Given the description of an element on the screen output the (x, y) to click on. 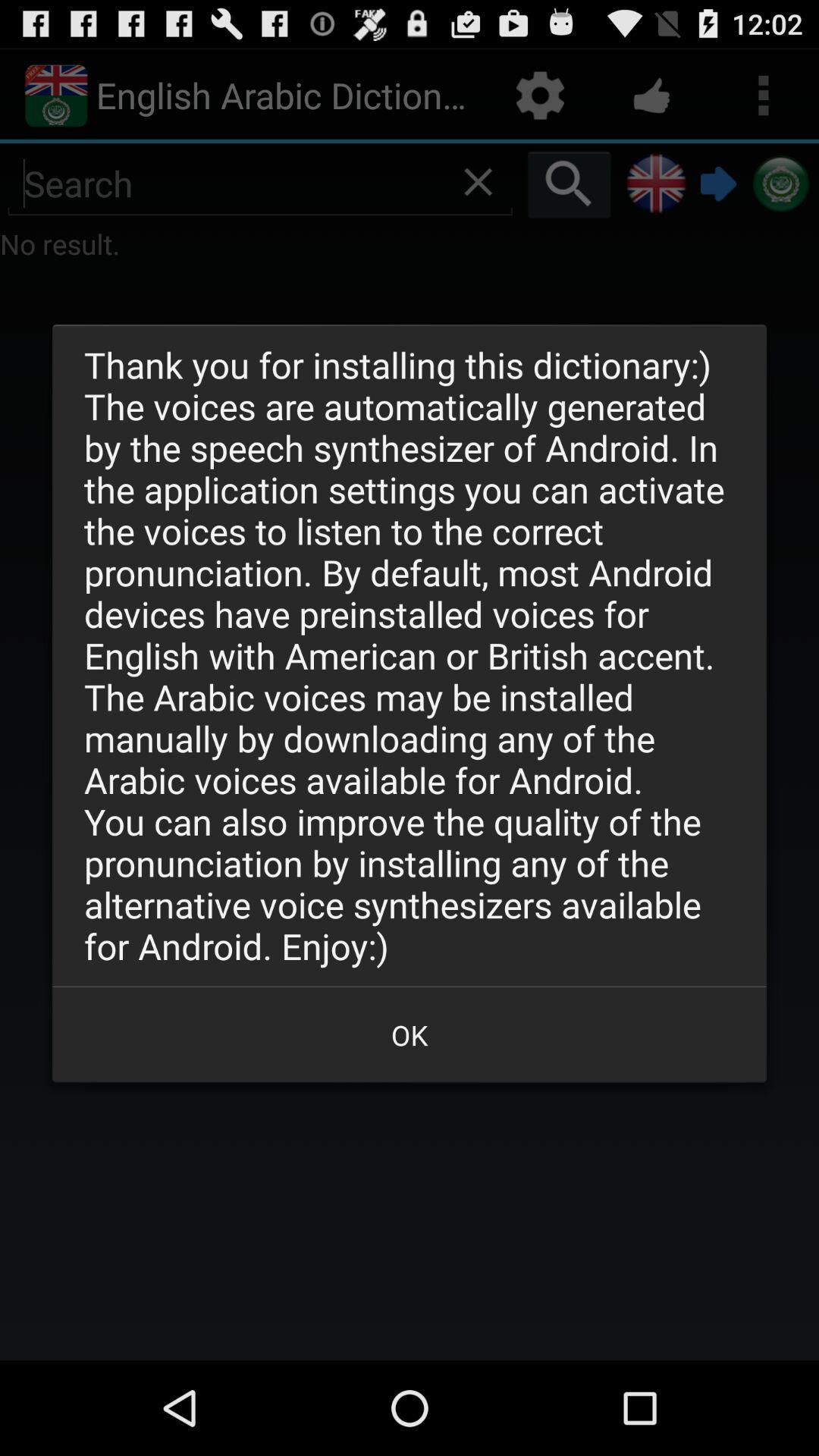
scroll until the ok (409, 1034)
